Given the description of an element on the screen output the (x, y) to click on. 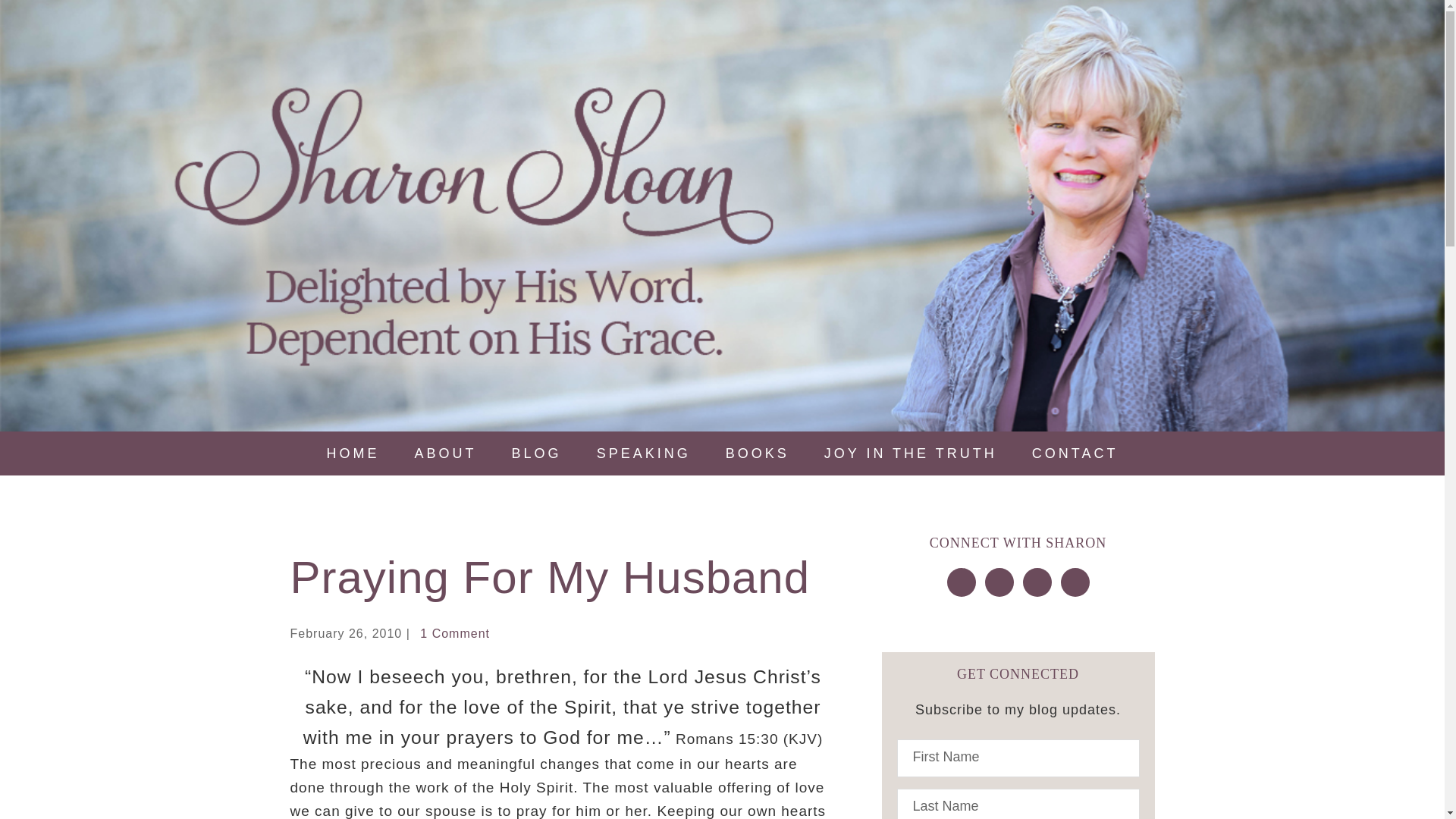
1 Comment (454, 633)
ABOUT (445, 453)
CONTACT (1075, 453)
HOME (352, 453)
BLOG (536, 453)
SPEAKING (643, 453)
JOY IN THE TRUTH (910, 453)
BOOKS (757, 453)
